Given the description of an element on the screen output the (x, y) to click on. 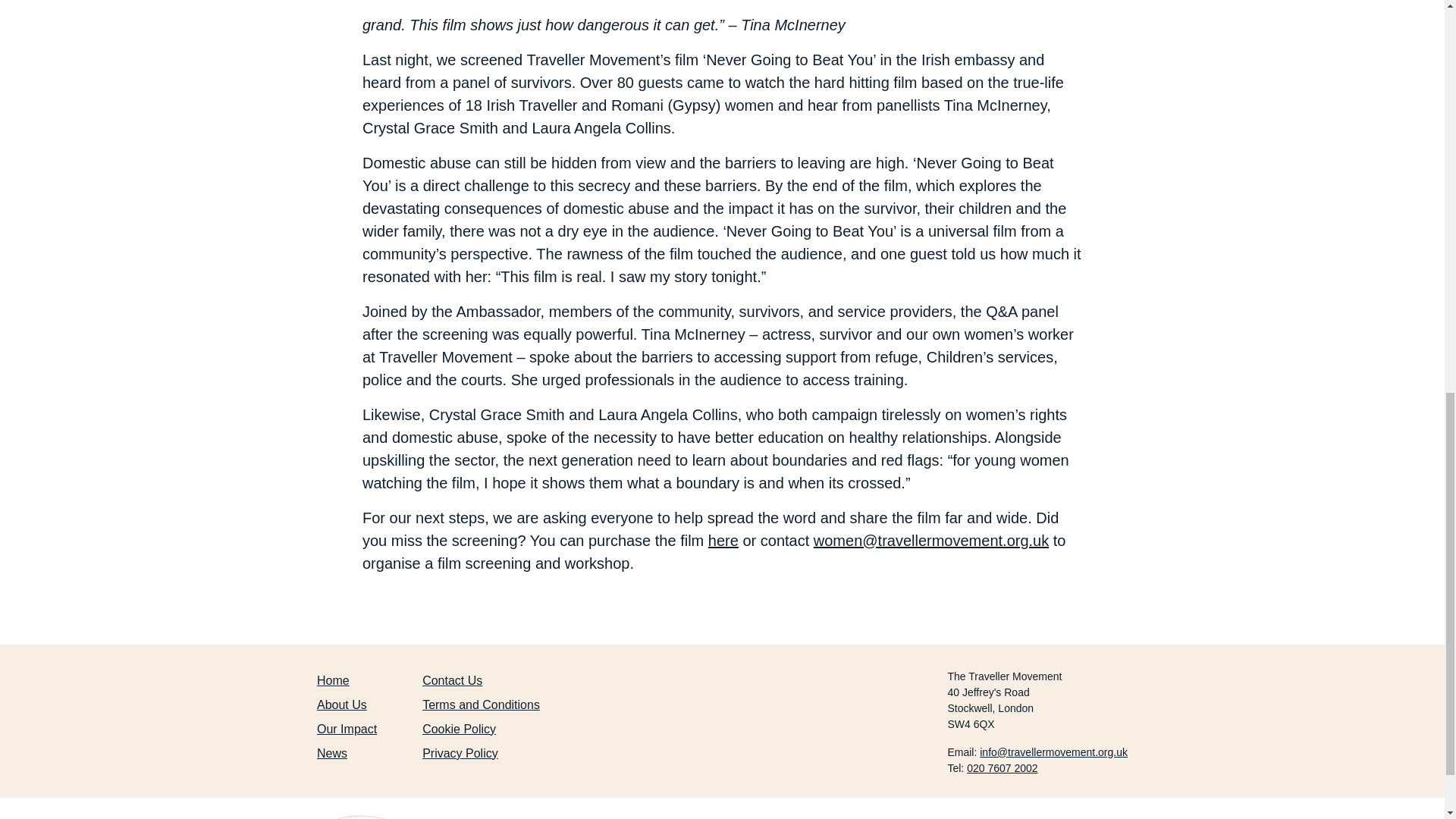
About Us (341, 704)
Contact Us (451, 680)
Our Impact (347, 728)
Home (333, 680)
Privacy Policy (459, 753)
Cookie Policy (459, 728)
News (332, 753)
Terms and Conditions (481, 704)
here (722, 540)
